Given the description of an element on the screen output the (x, y) to click on. 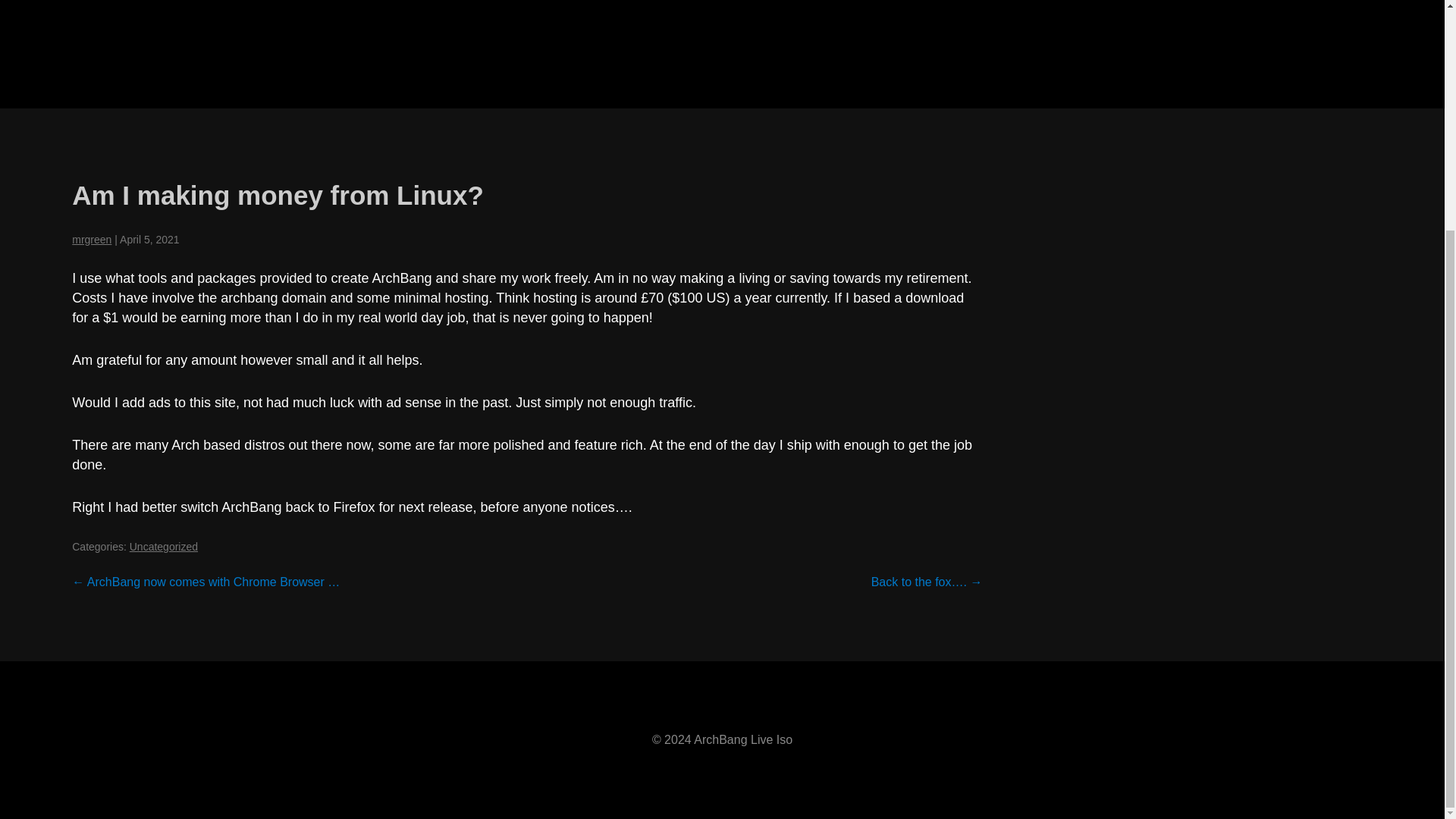
Uncategorized (163, 546)
Am I making money from Linux? (277, 194)
Posts by mrgreen (91, 239)
April 5, 2021 (149, 239)
Advertisement (721, 50)
Am I making money from Linux? (277, 194)
mrgreen (91, 239)
